Given the description of an element on the screen output the (x, y) to click on. 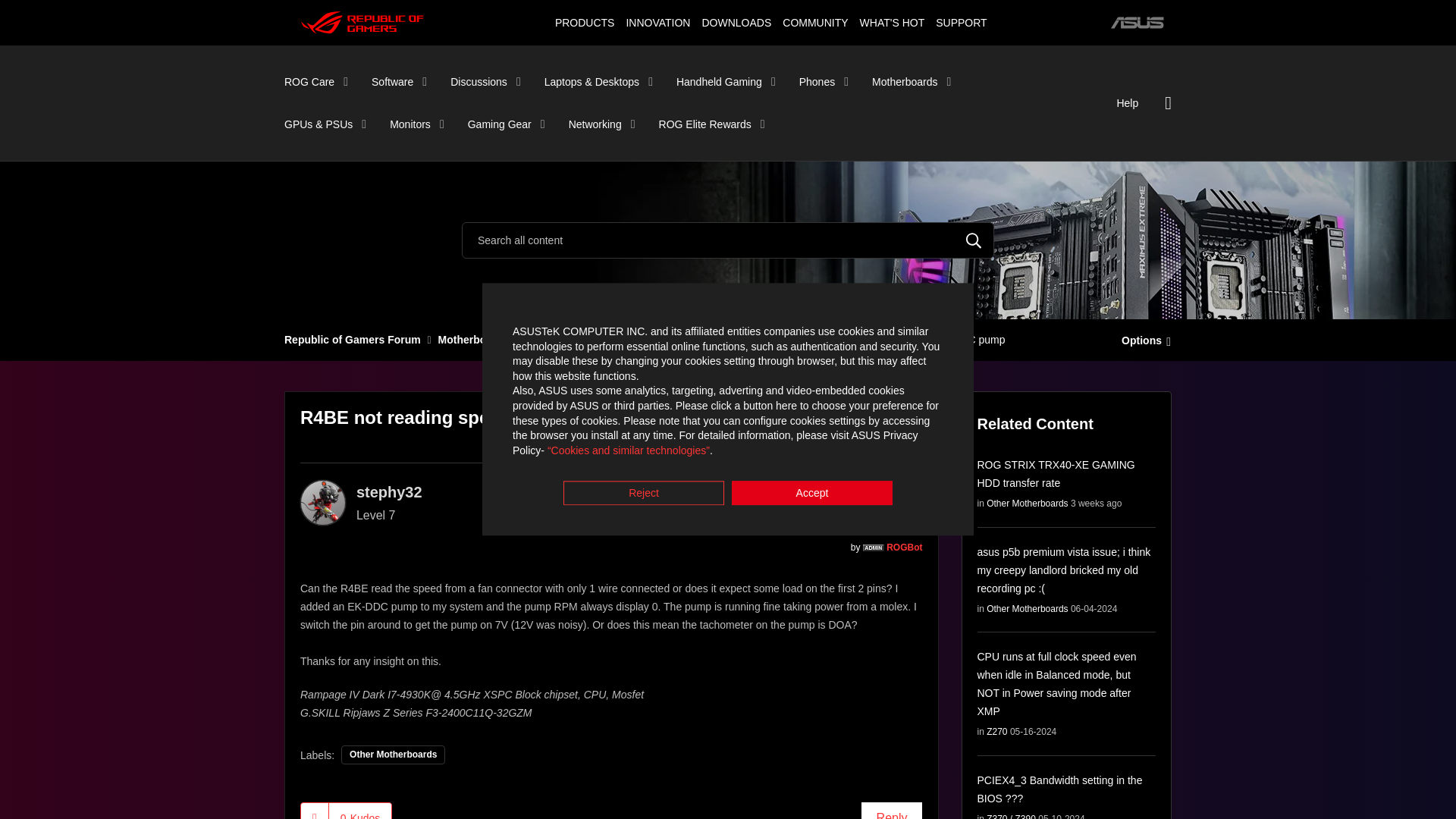
Community Admin (873, 547)
Search (973, 239)
COMMUNITY (815, 22)
PRODUCTS (584, 22)
stephy32 (322, 502)
Click here to give kudos to this post. (315, 811)
Search (727, 239)
The total number of kudos this post has received. (360, 811)
DOWNLOADS (736, 22)
Show option menu (1142, 339)
INNOVATION (657, 22)
Search (973, 239)
